Given the description of an element on the screen output the (x, y) to click on. 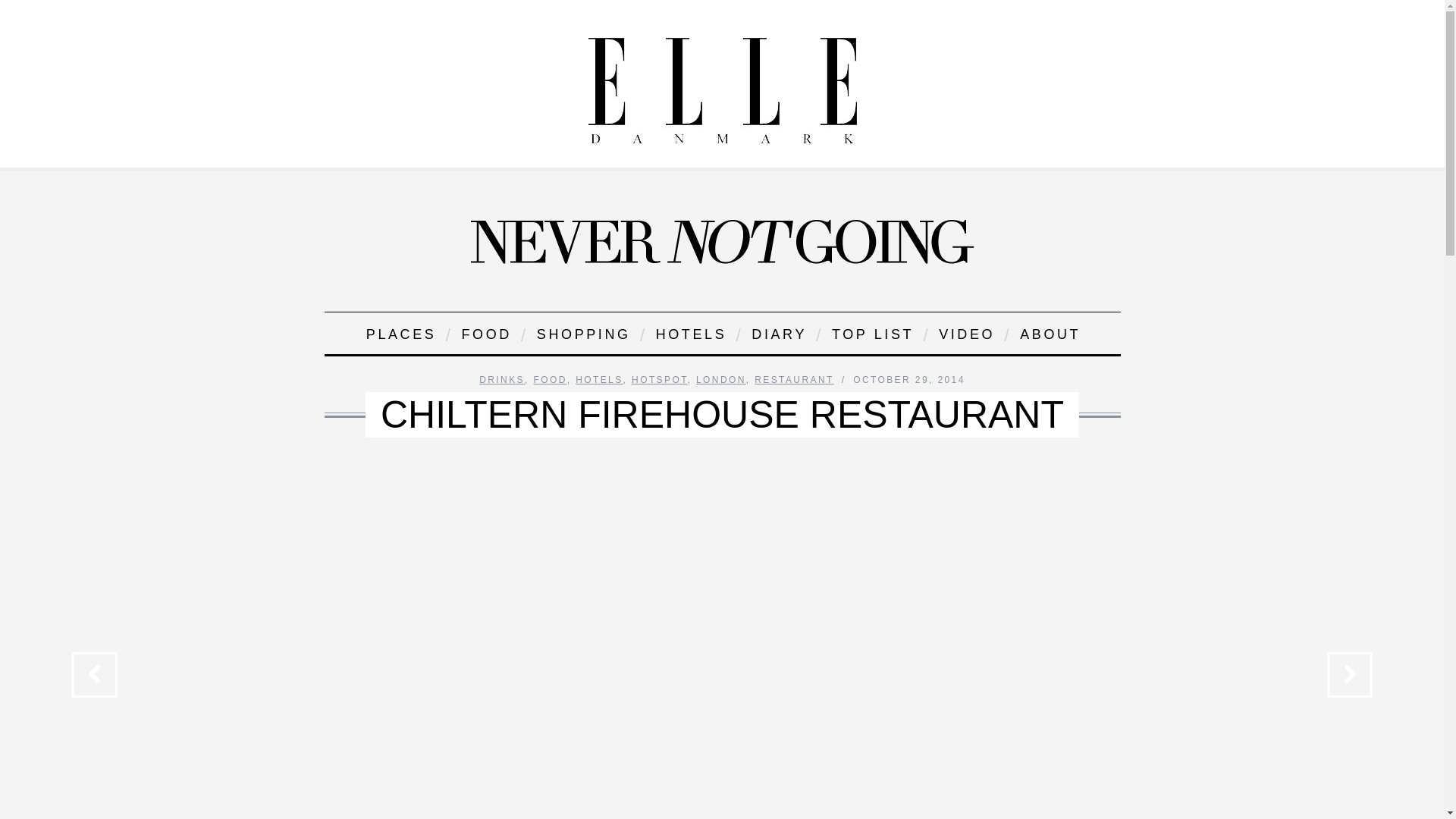
NEVER NOT GOING - travel hotels restaurants (721, 241)
ELLE.DK (722, 90)
